Given the description of an element on the screen output the (x, y) to click on. 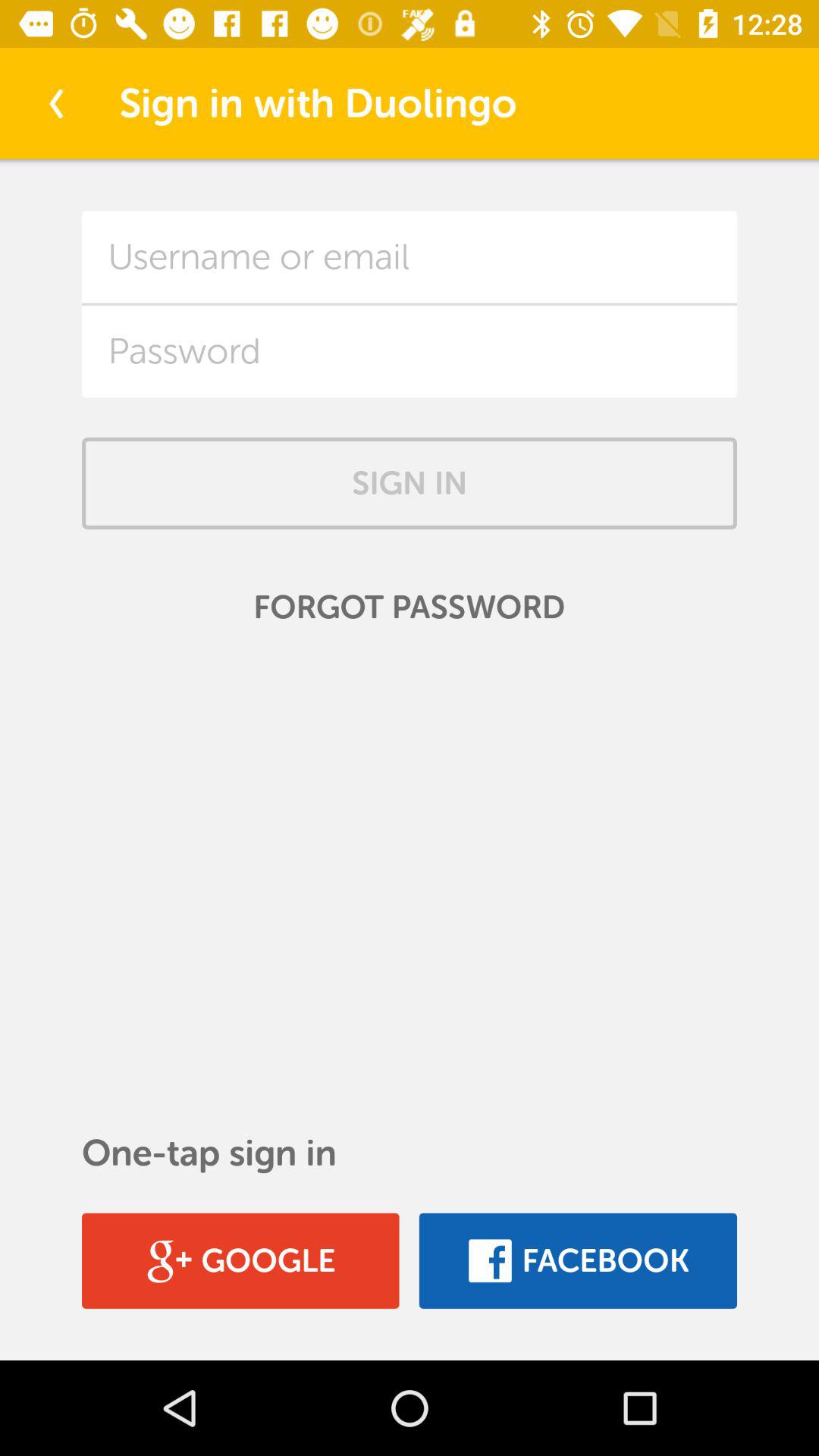
select icon to the left of sign in with item (55, 103)
